Given the description of an element on the screen output the (x, y) to click on. 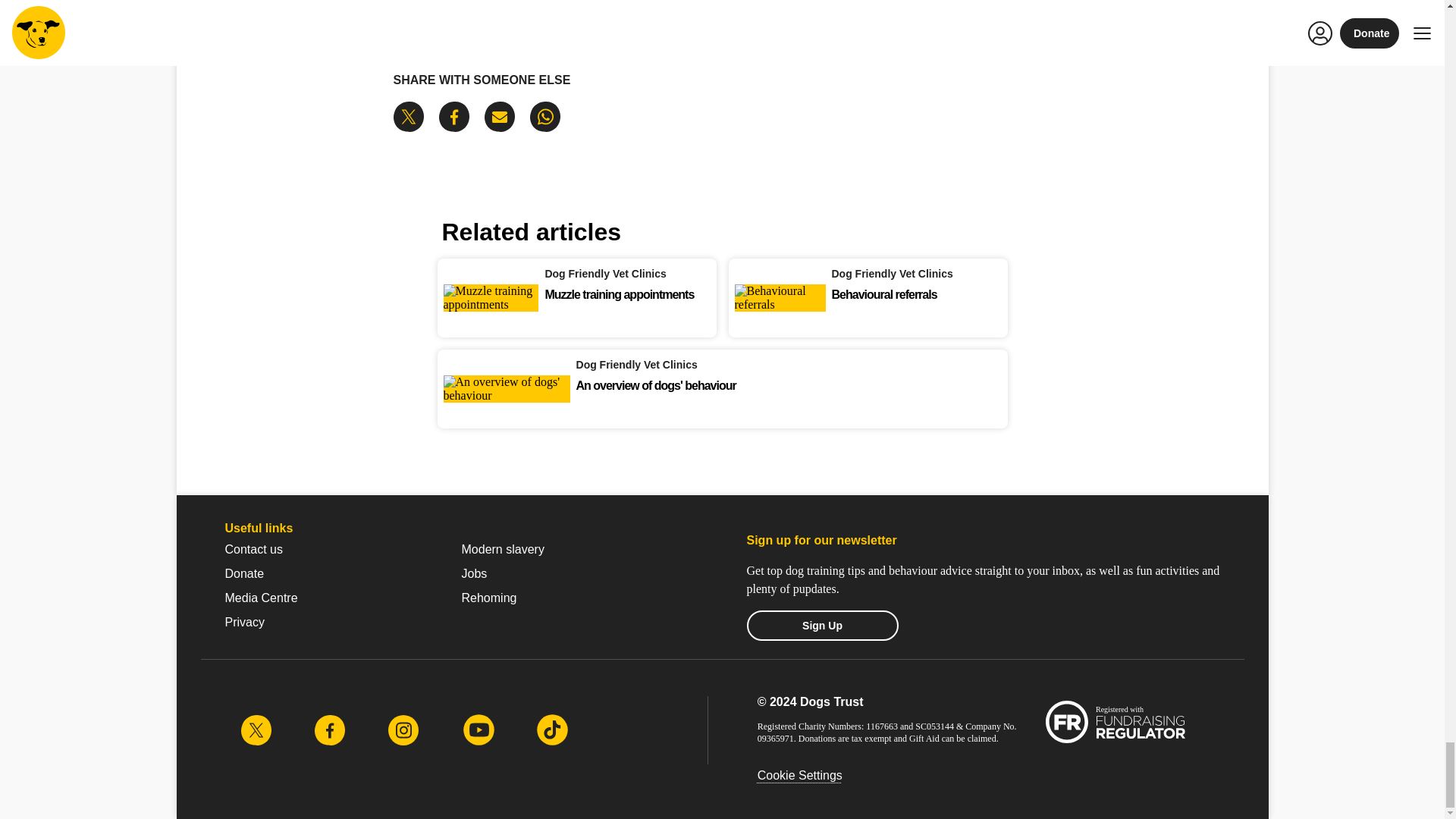
Registered with (1117, 723)
